Given the description of an element on the screen output the (x, y) to click on. 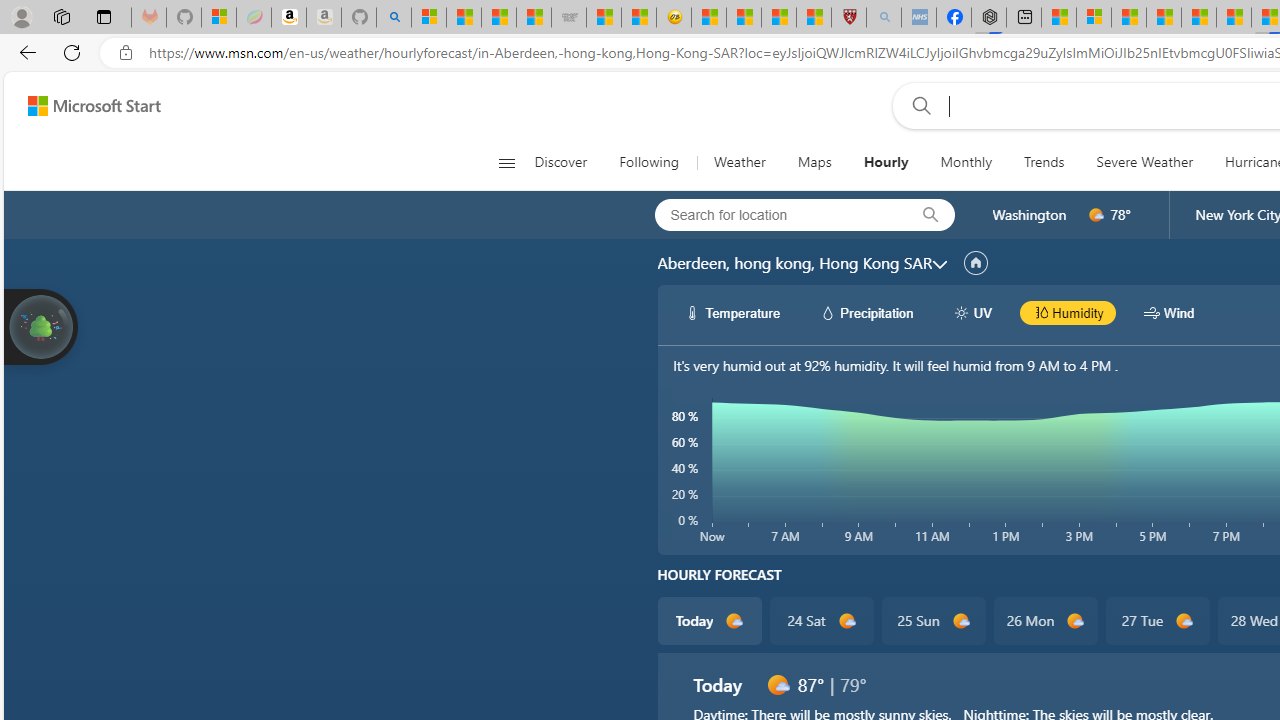
common/carouselChevron (939, 264)
Monthly (966, 162)
common/carouselChevron (939, 264)
hourlyChart/uvWhite (961, 312)
Monthly (966, 162)
26 Mon d1000 (1045, 620)
24 Sat d1000 (821, 620)
Aberdeen, hong kong, Hong Kong SAR (794, 263)
